Given the description of an element on the screen output the (x, y) to click on. 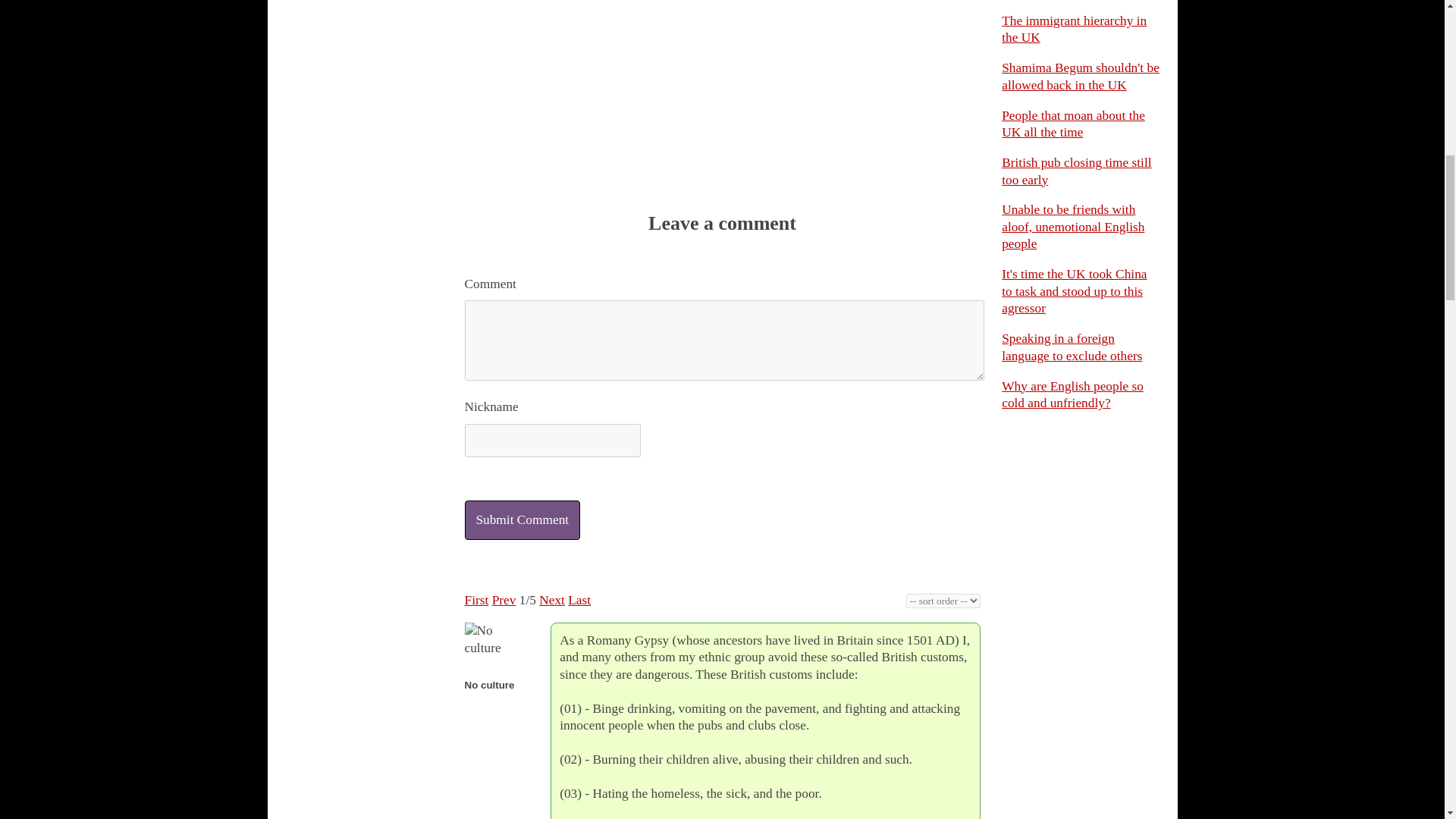
Prev (504, 599)
Last (579, 599)
Submit Comment (521, 519)
First (476, 599)
Next (551, 599)
